Given the description of an element on the screen output the (x, y) to click on. 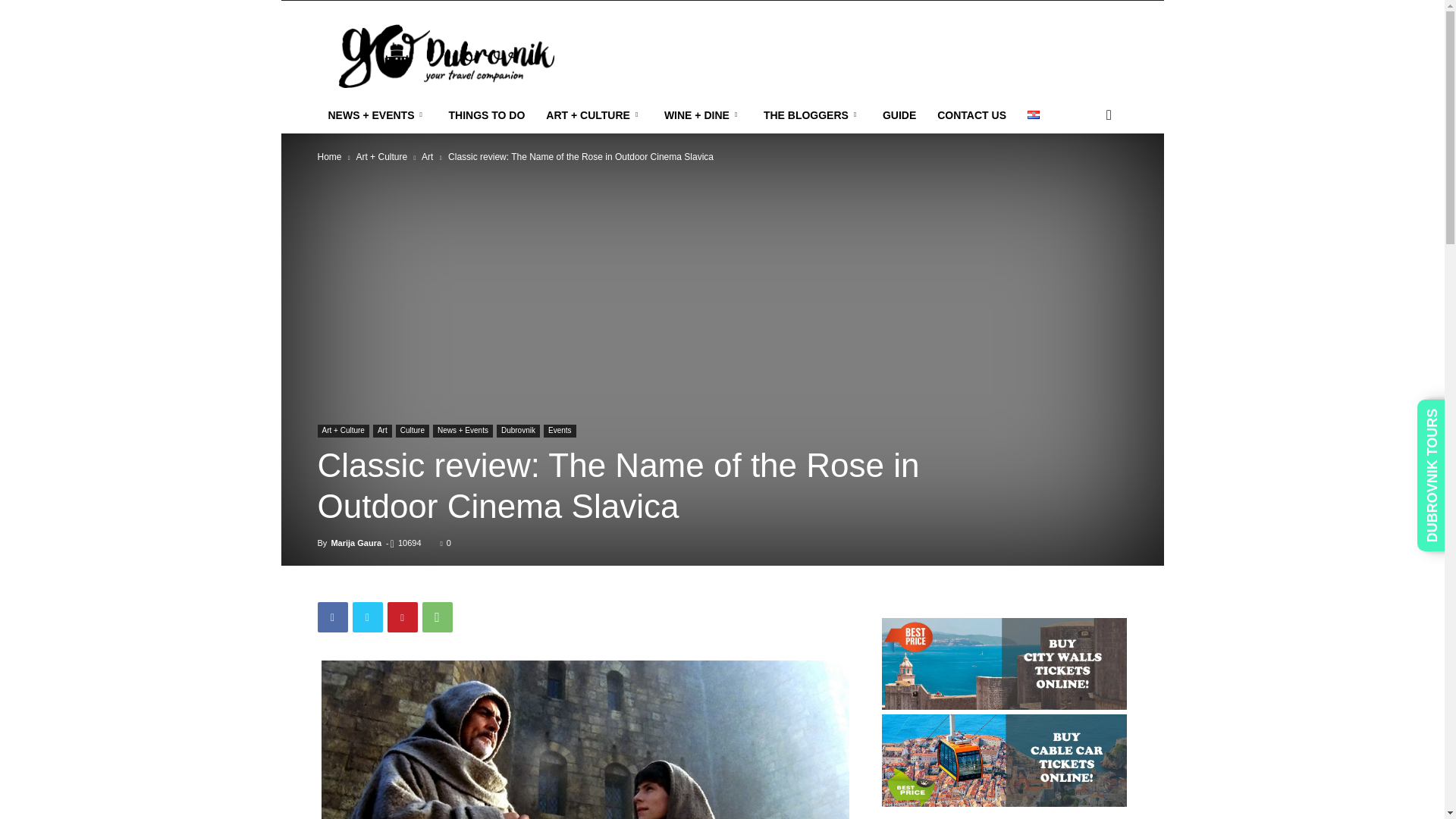
godubrovnik (445, 55)
